Given the description of an element on the screen output the (x, y) to click on. 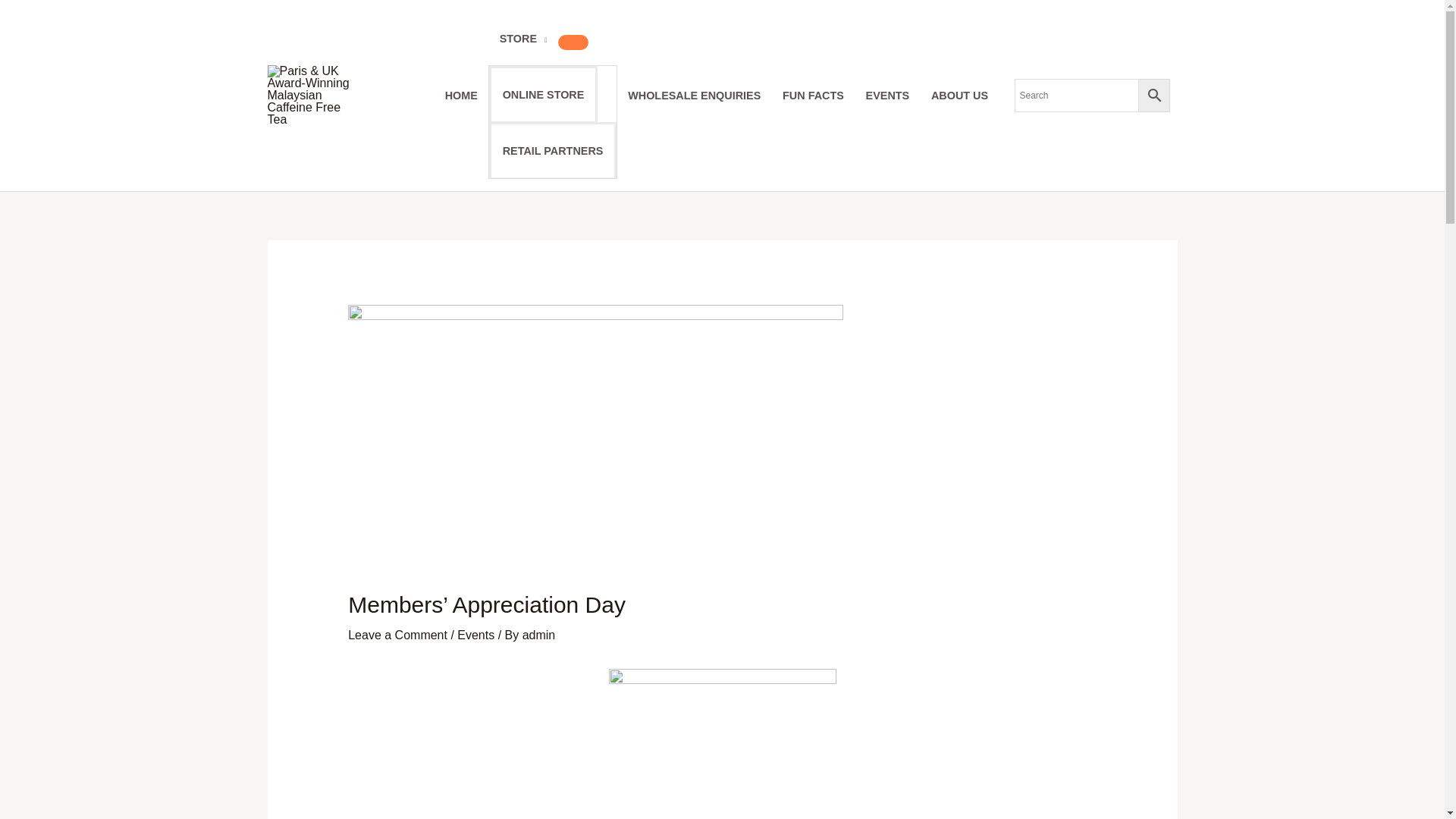
HOME (772, 45)
View all posts by admin (285, 551)
admin (285, 551)
Events (224, 551)
FUN FACTS (1064, 45)
ABOUT US (1211, 45)
EVENTS (1139, 45)
STORE (834, 45)
Leave a Comment (145, 551)
WHOLESALE ENQUIRIES (946, 45)
